Given the description of an element on the screen output the (x, y) to click on. 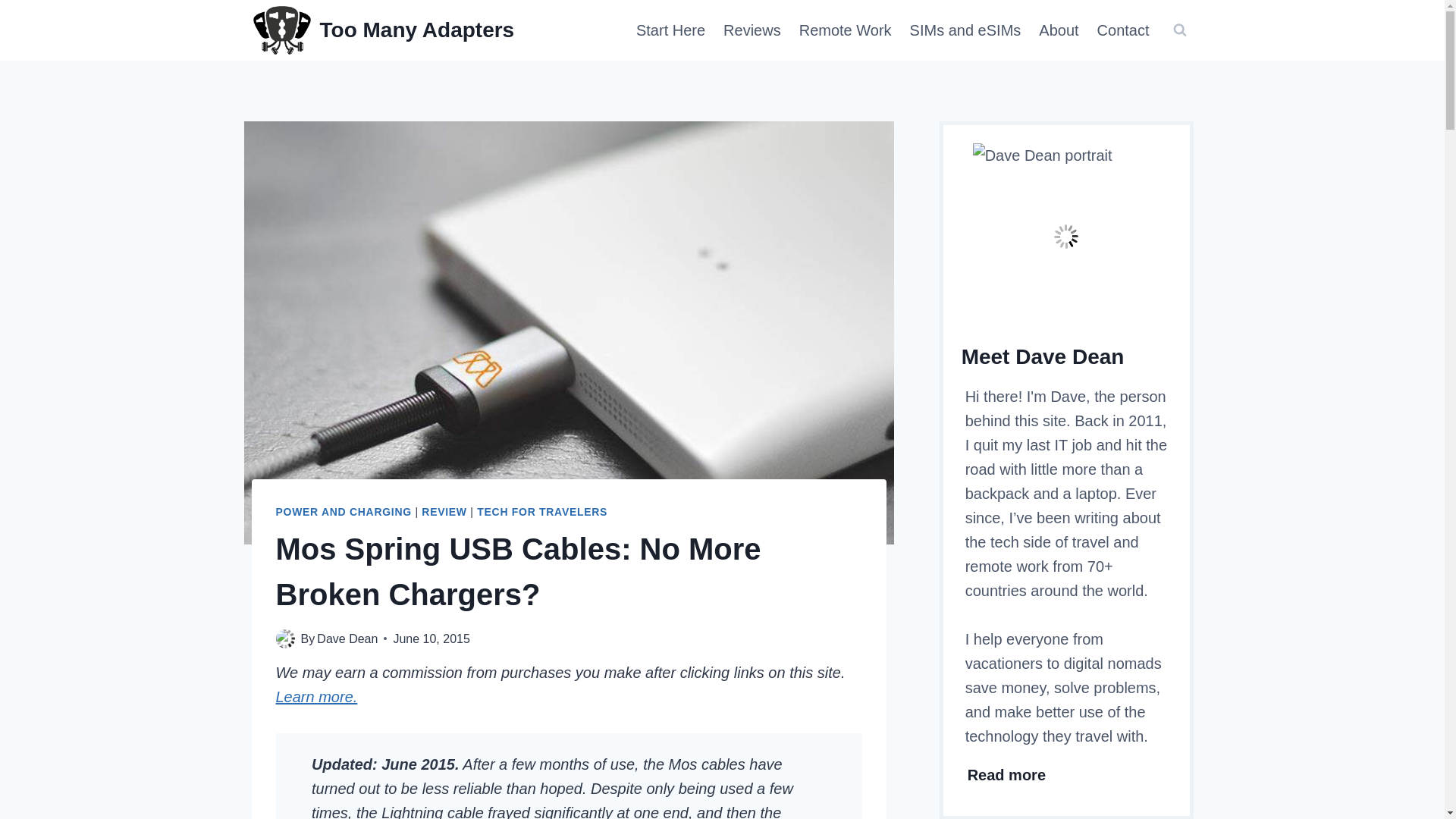
Dave Dean (347, 638)
REVIEW (443, 511)
POWER AND CHARGING (344, 511)
Learn more. (317, 696)
About (1058, 30)
Start Here (670, 30)
Remote Work (845, 30)
Reviews (752, 30)
SIMs and eSIMs (965, 30)
Contact (1122, 30)
TECH FOR TRAVELERS (542, 511)
